Given the description of an element on the screen output the (x, y) to click on. 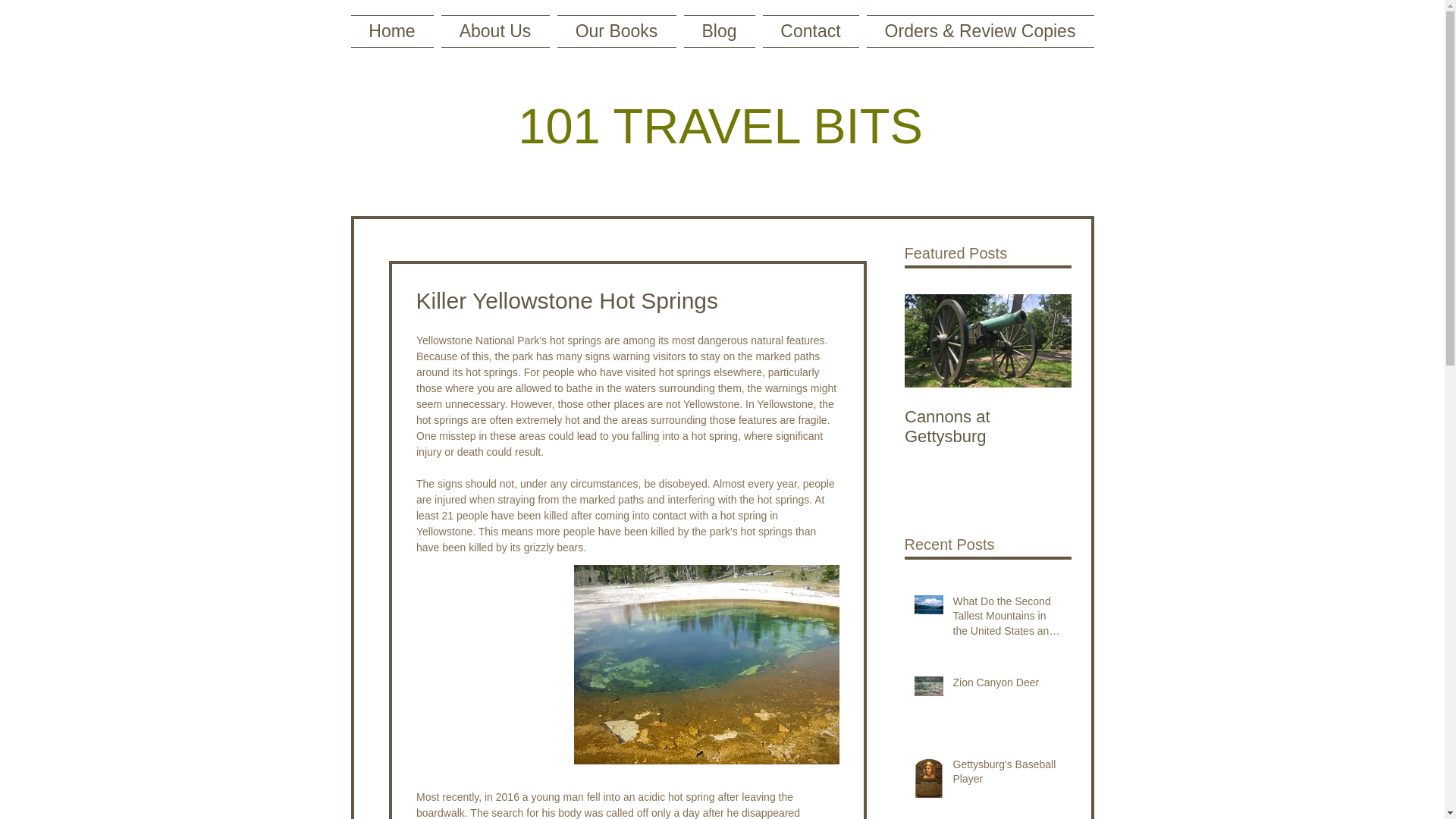
Home (393, 31)
Contact (809, 31)
Cannons at Gettysburg (987, 426)
Gettysburg's Baseball Player (1006, 775)
About Us (494, 31)
Our Books (616, 31)
Zion Canyon Deer (1006, 685)
Blog (718, 31)
